Given the description of an element on the screen output the (x, y) to click on. 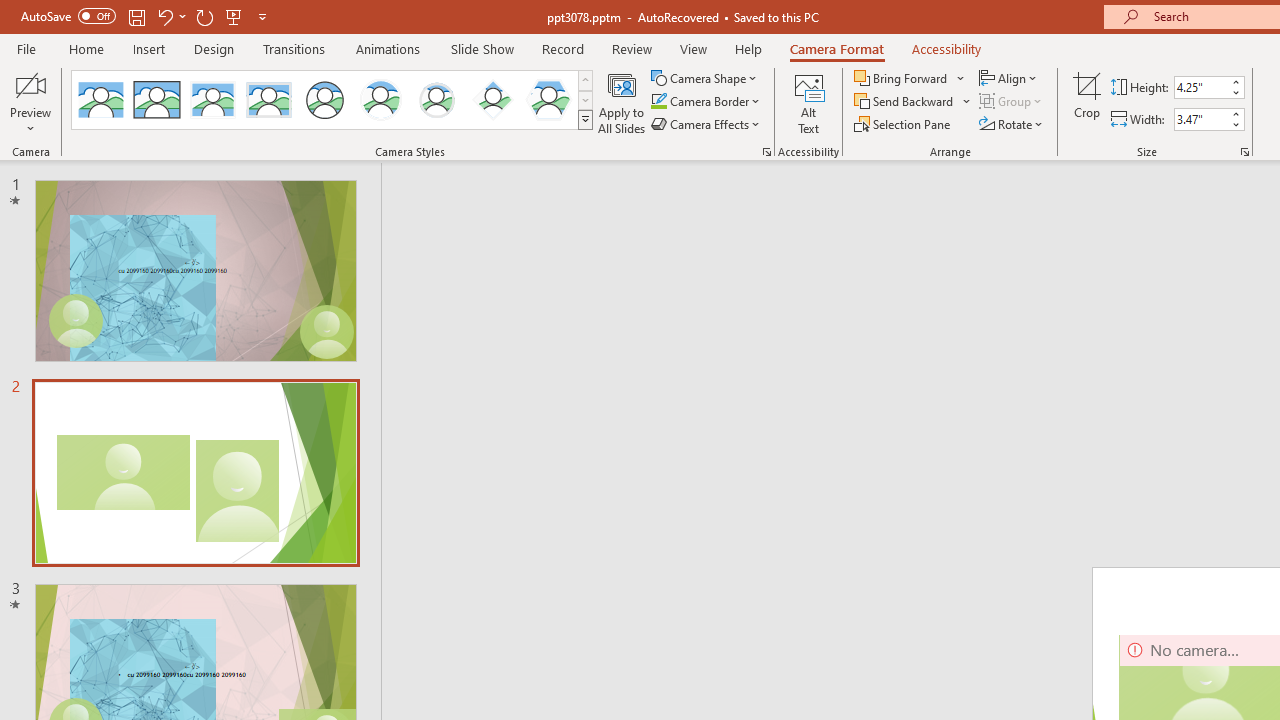
Camera Styles (585, 120)
Apply to All Slides (621, 102)
Simple Frame Circle (324, 100)
Crop (1087, 102)
Camera Format (836, 48)
Camera Border (706, 101)
Camera Effects (706, 124)
Camera Border Green, Accent 1 (658, 101)
